Given the description of an element on the screen output the (x, y) to click on. 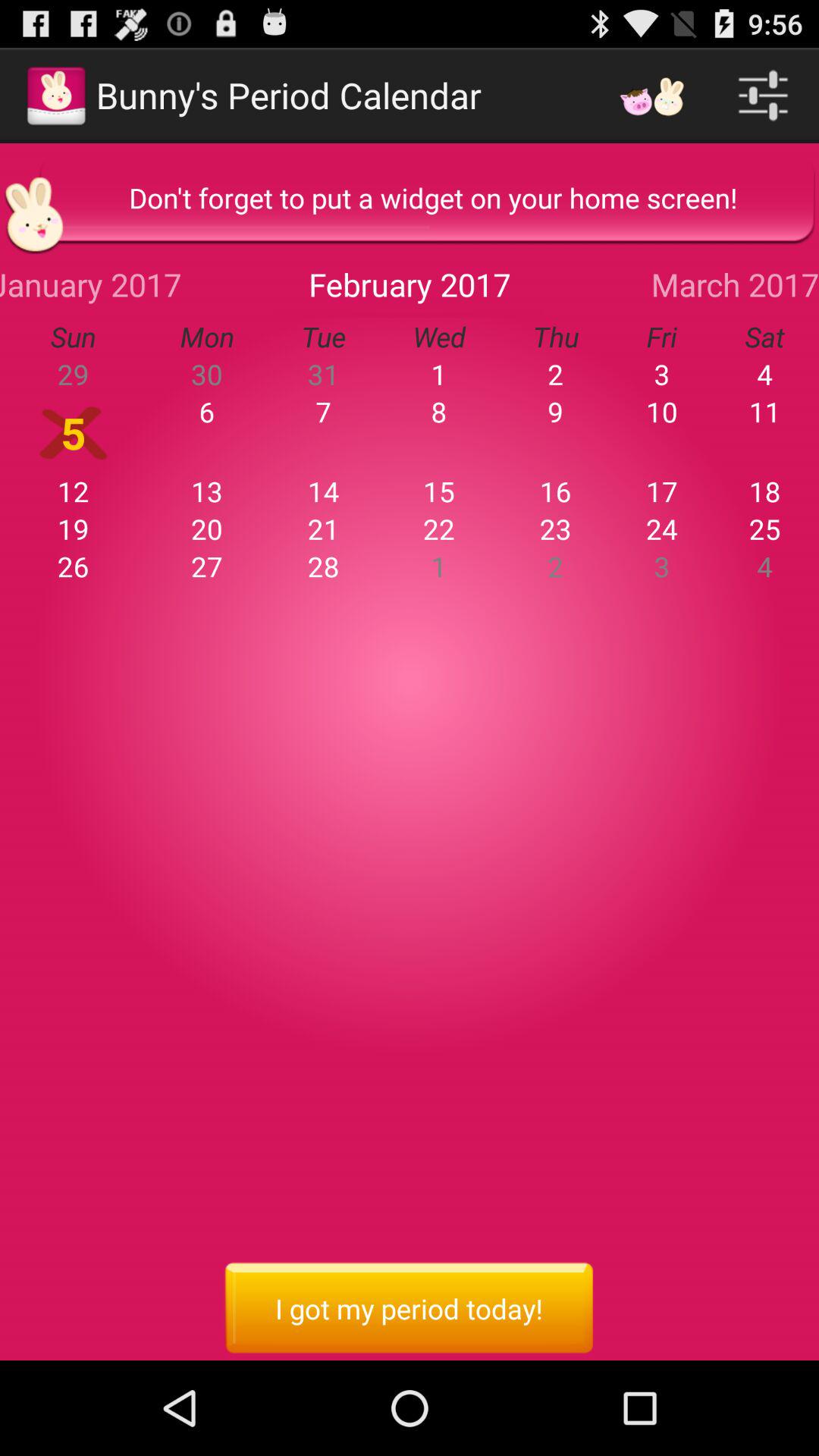
scroll until the 24 (661, 528)
